Given the description of an element on the screen output the (x, y) to click on. 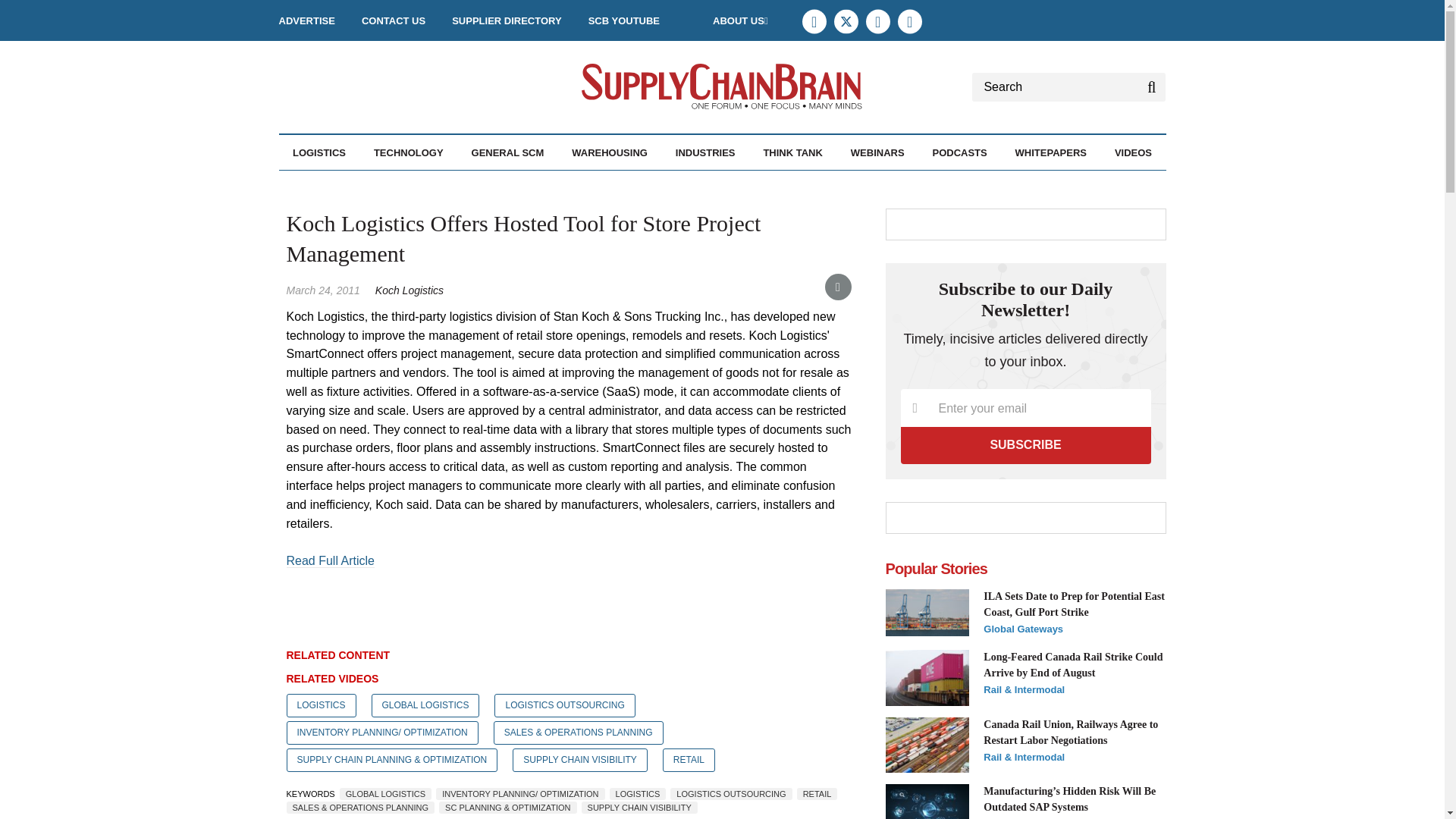
Service Parts Management (413, 193)
canada-rail-freight-iStock-115879251.jpg (927, 745)
SCB YOUTUBE (623, 20)
Reverse Logistics (411, 184)
Ocean Transportation (407, 184)
Last Mile Delivery (401, 184)
canada-rail-freight-iStock-2148148226.jpg (927, 677)
Artificial Intelligence (456, 184)
Global Gateways (395, 184)
Logistics Outsourcing (404, 184)
